Given the description of an element on the screen output the (x, y) to click on. 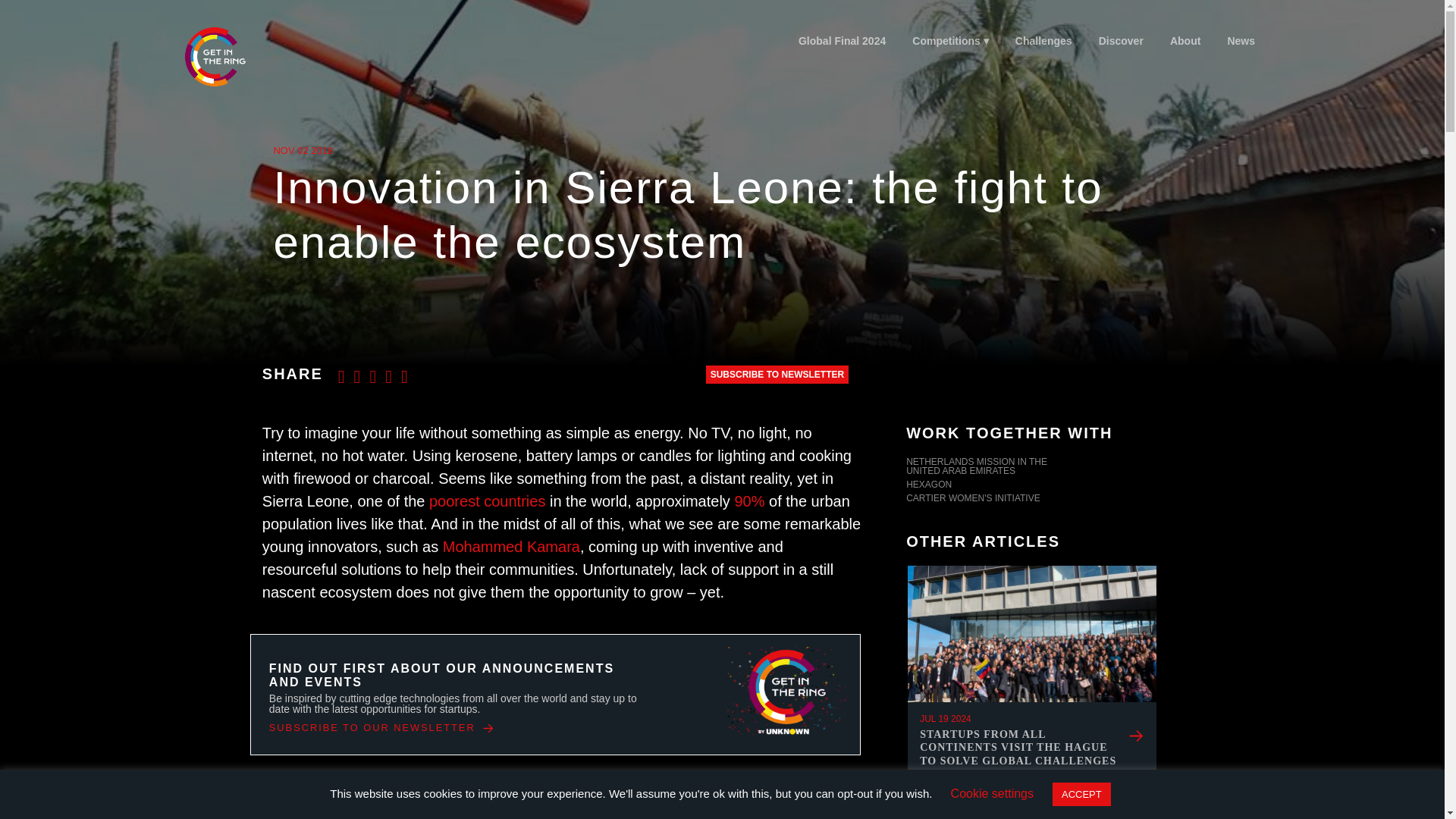
Challenges (1042, 41)
Get in the Ring (232, 56)
SUBSCRIBE TO OUR NEWSLETTER (382, 727)
NETHERLANDS MISSION IN THE UNITED ARAB EMIRATES (1031, 467)
Get in the Ring (213, 56)
HEXAGON (1031, 486)
Discover (1120, 41)
Mohammed Kamara (510, 546)
CARTIER WOMEN'S INITIATIVE (1031, 499)
Competitions (951, 41)
Global Final 2024 (841, 41)
SUBSCRIBE TO NEWSLETTER (777, 374)
